Given the description of an element on the screen output the (x, y) to click on. 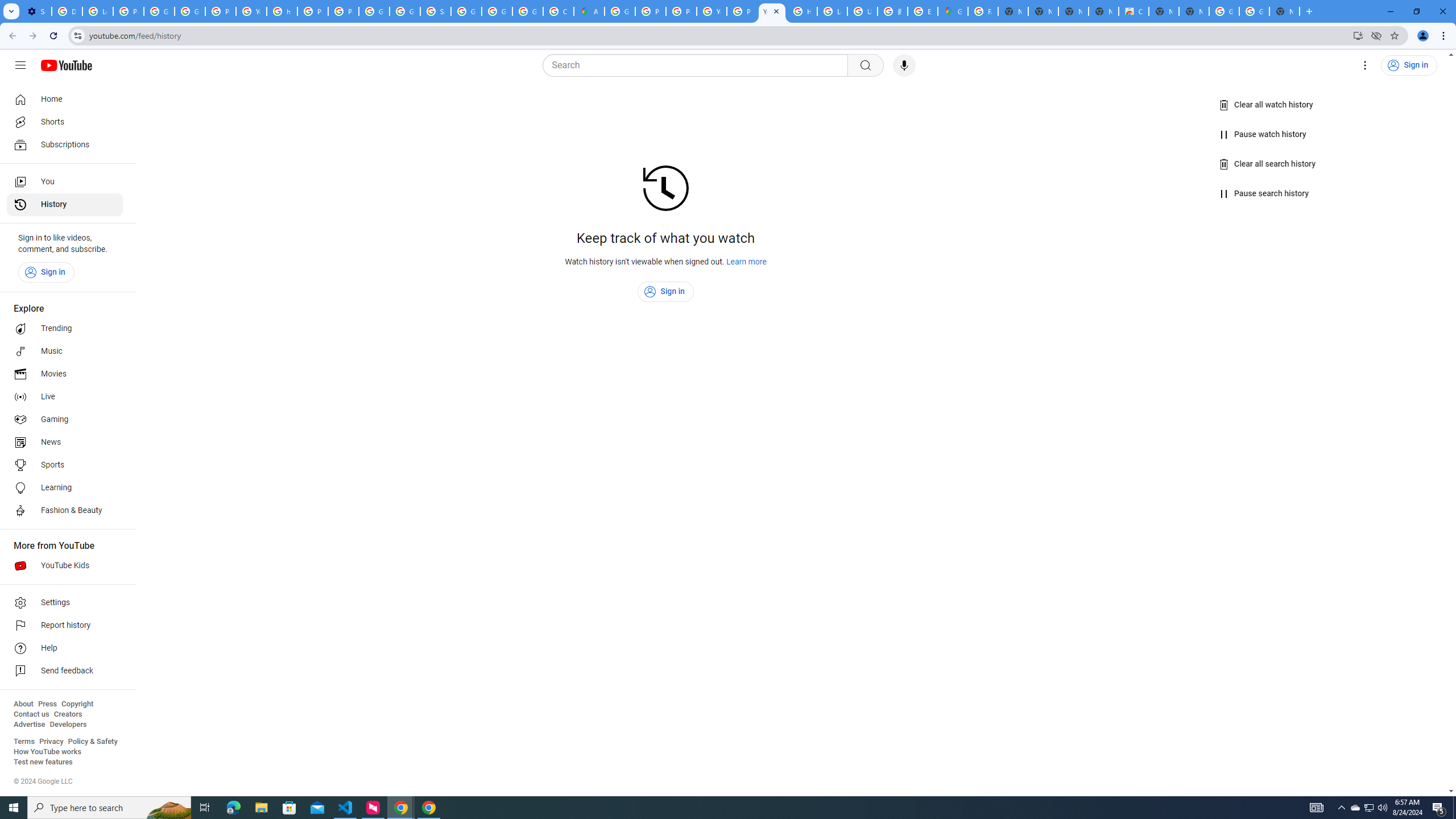
Privacy Help Center - Policies Help (650, 11)
Live (64, 396)
Pause search history (1264, 193)
Creators (67, 714)
Policy & Safety (91, 741)
Google Account Help (189, 11)
Delete photos & videos - Computer - Google Photos Help (66, 11)
Help (64, 648)
Settings (64, 602)
Home (64, 99)
Settings (1365, 65)
